Given the description of an element on the screen output the (x, y) to click on. 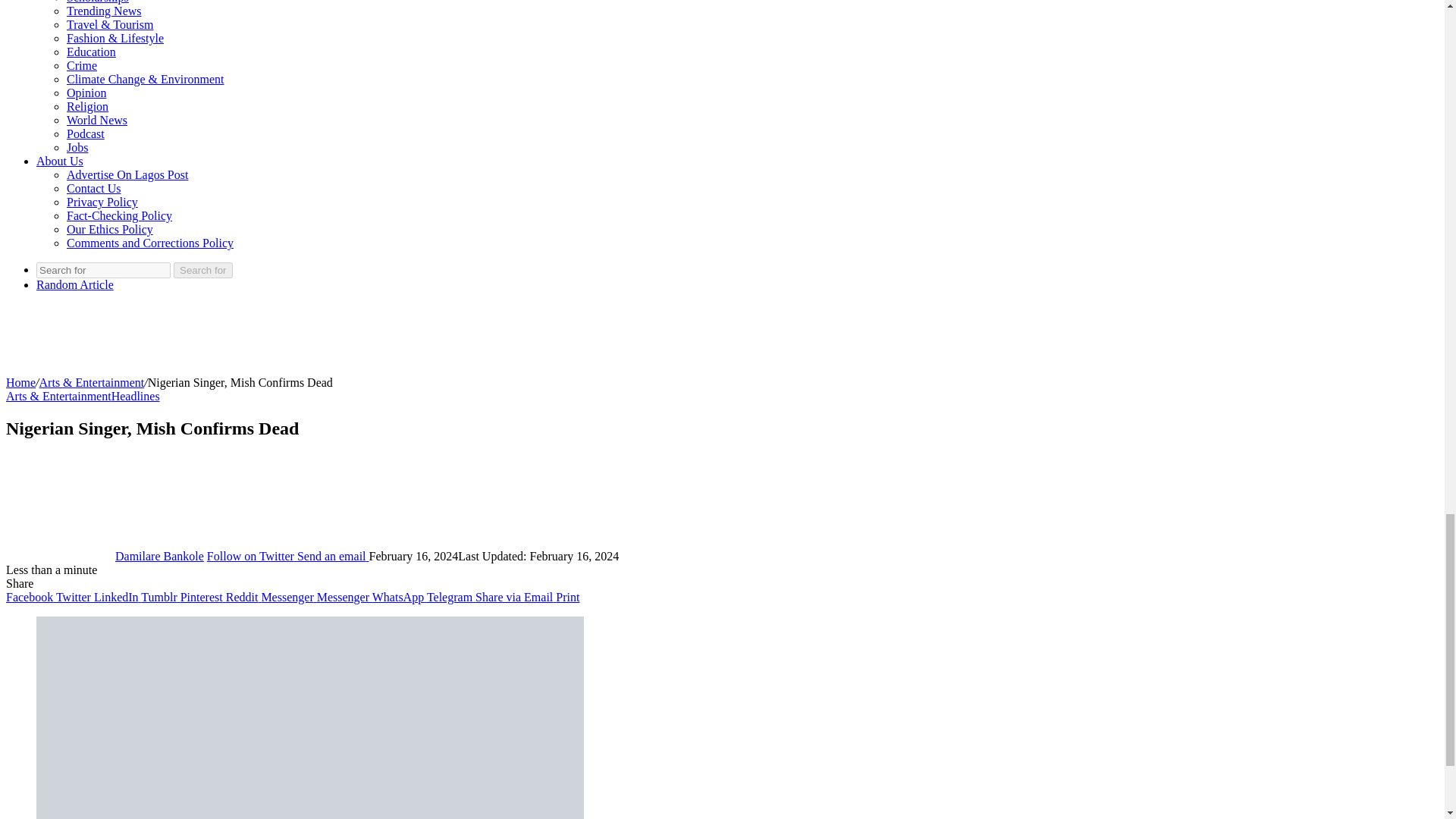
Follow on Twitter (251, 555)
Facebook (30, 596)
Damilare Bankole (159, 555)
Messenger (287, 596)
Send an email (333, 555)
Twitter (75, 596)
LinkedIn (117, 596)
Pinterest (202, 596)
Tumblr (160, 596)
Random Article (74, 284)
Search for (103, 270)
Reddit (243, 596)
